Given the description of an element on the screen output the (x, y) to click on. 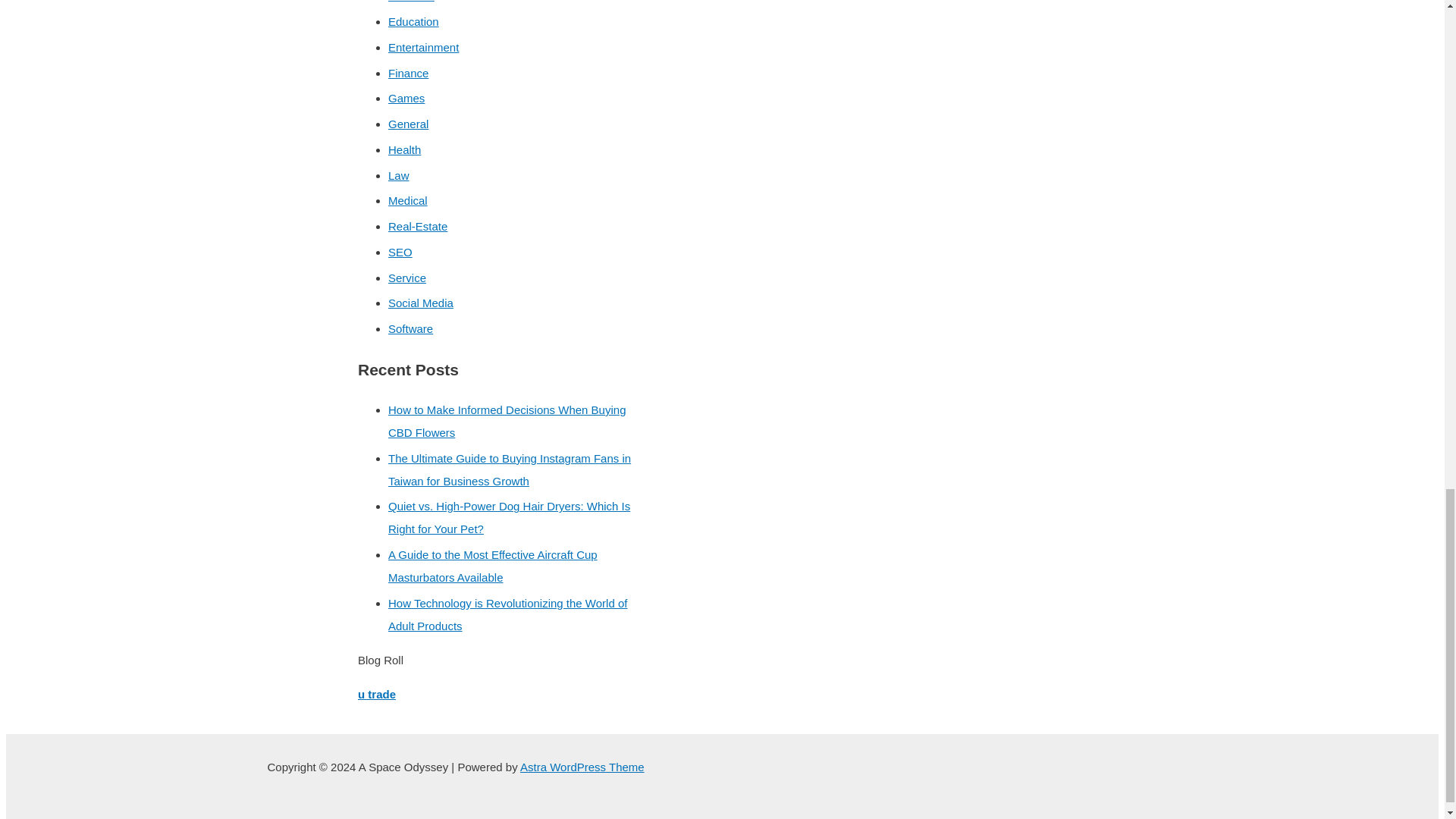
Astra WordPress Theme (582, 766)
Business (410, 1)
Real-Estate (417, 226)
Law (398, 174)
u trade (377, 694)
General (408, 123)
Service (407, 277)
Finance (408, 72)
Entertainment (423, 47)
Games (406, 97)
Social Media (420, 302)
SEO (400, 251)
